Given the description of an element on the screen output the (x, y) to click on. 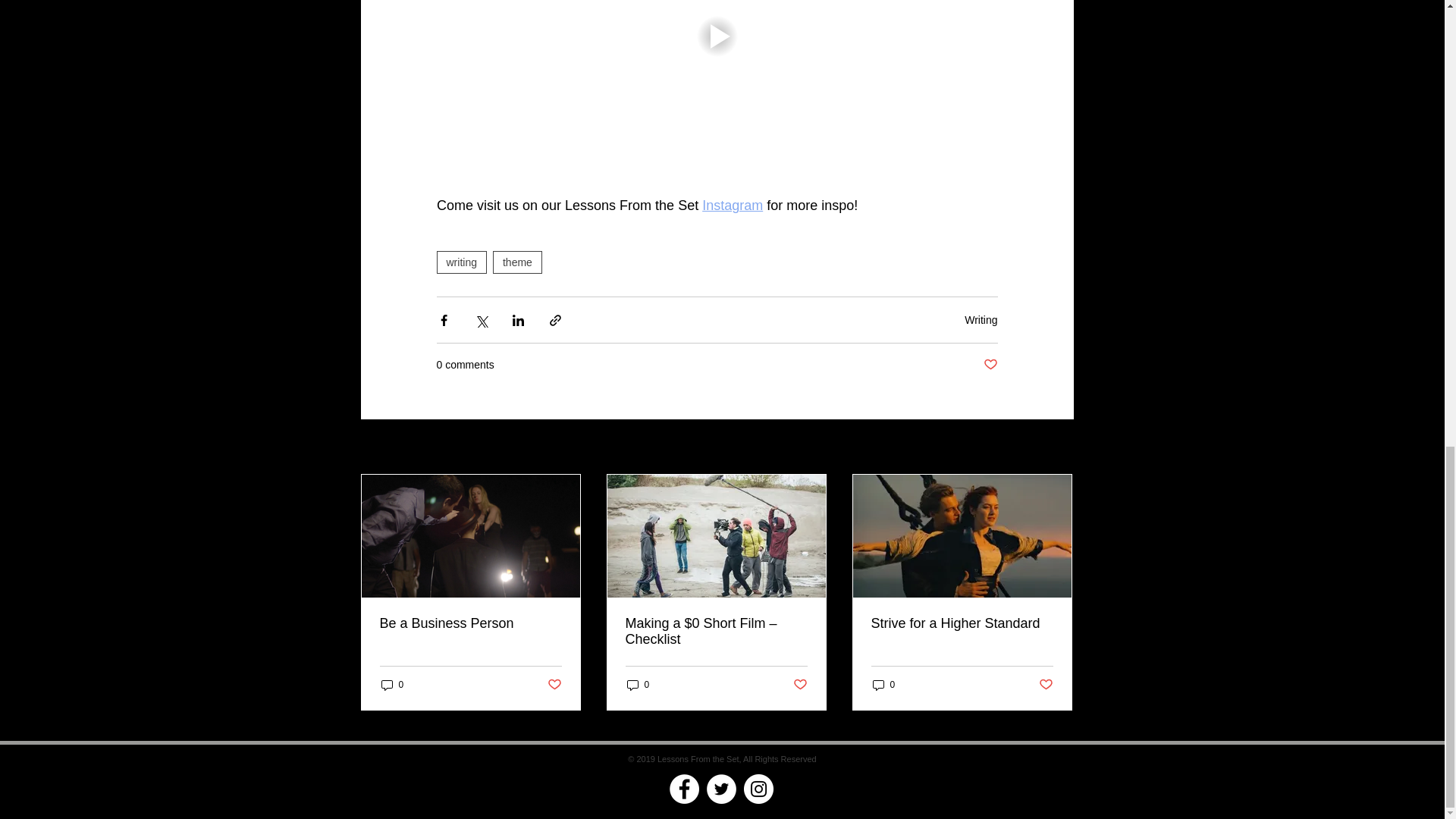
Post not marked as liked (554, 684)
0 (637, 685)
Strive for a Higher Standard (961, 623)
Writing (980, 319)
0 (391, 685)
Instagram (731, 205)
See All (1057, 447)
writing (461, 261)
Post not marked as liked (989, 365)
Post not marked as liked (800, 684)
theme (517, 261)
Be a Business Person (469, 623)
